Given the description of an element on the screen output the (x, y) to click on. 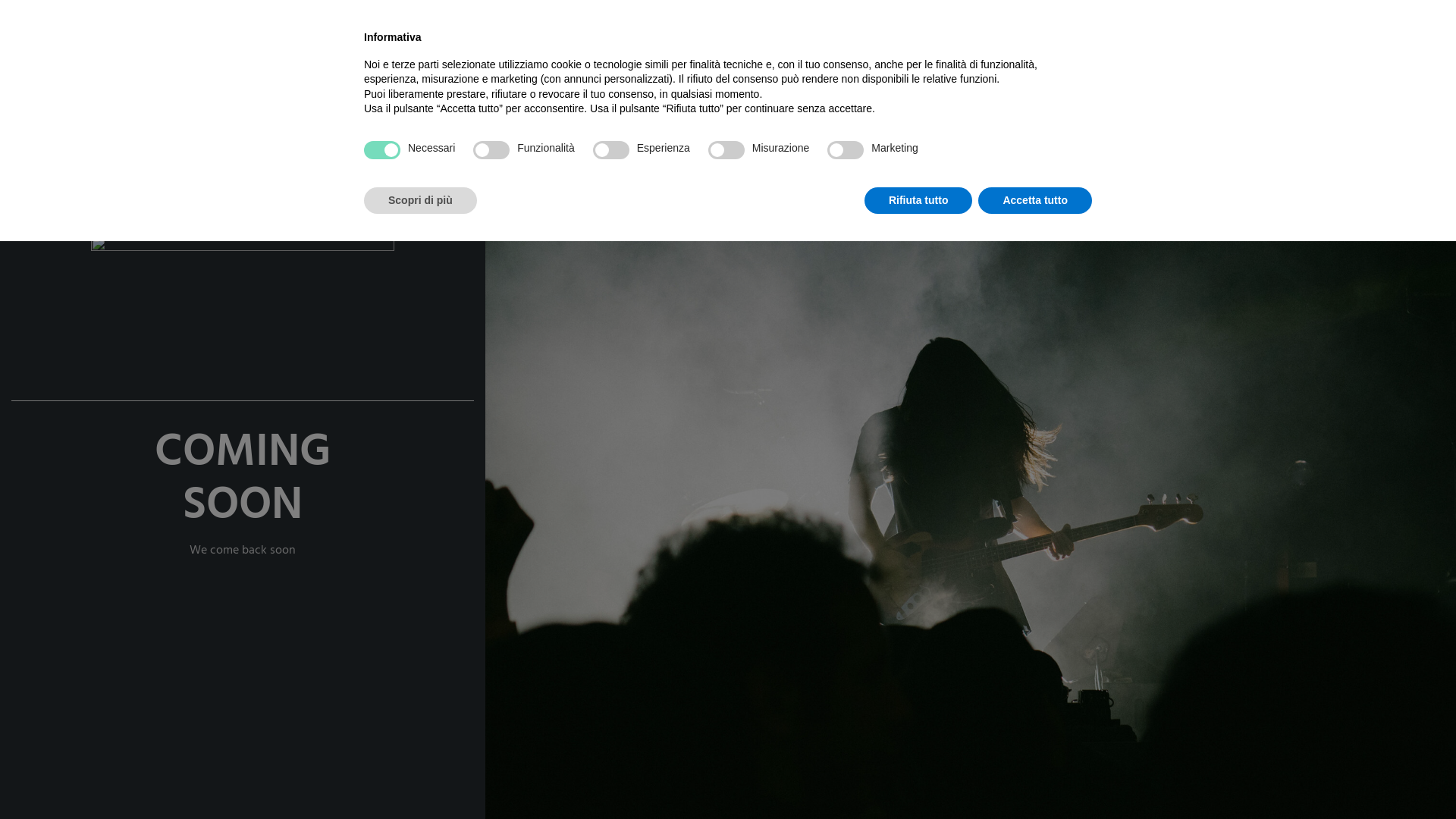
17-music-store-logo Element type: hover (242, 291)
Rifiuta tutto Element type: text (918, 200)
Accetta tutto Element type: text (1035, 200)
